Given the description of an element on the screen output the (x, y) to click on. 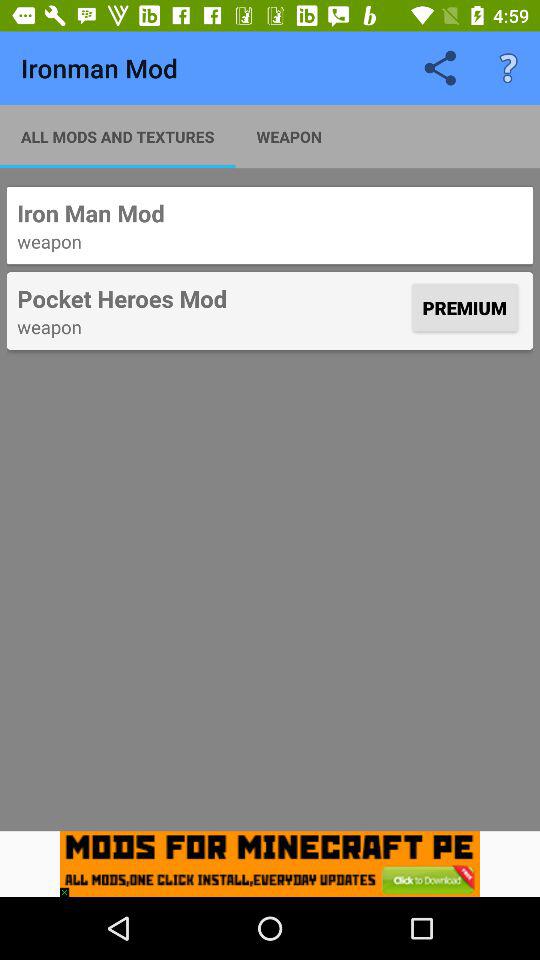
click item below weapon icon (69, 887)
